Given the description of an element on the screen output the (x, y) to click on. 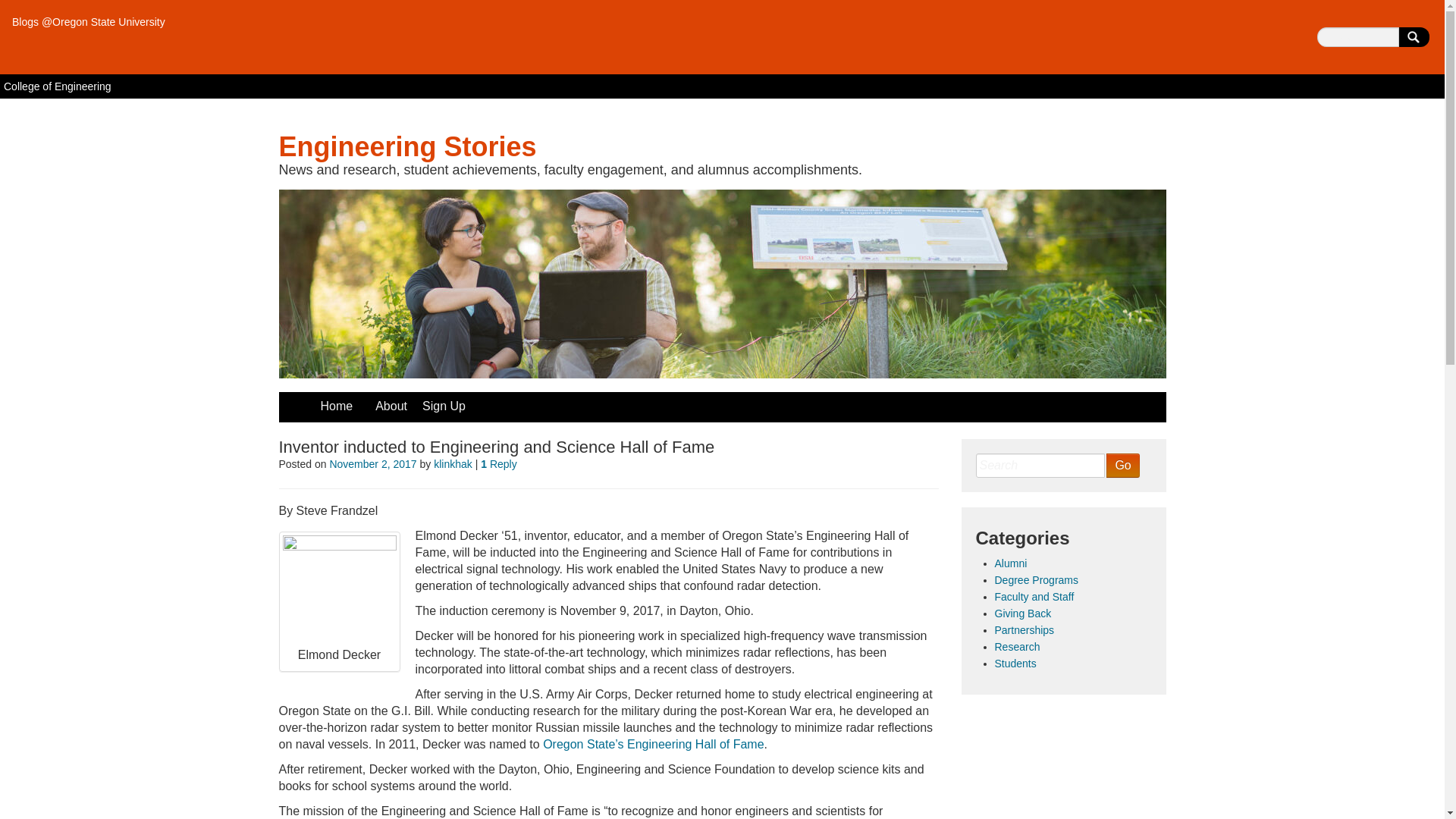
1 Reply (498, 463)
Research (1017, 646)
5:23 pm (372, 463)
Giving Back (1022, 613)
Engineering Stories (408, 146)
November 2, 2017 (372, 463)
College of Engineering (58, 86)
Skip to primary content (341, 400)
Home (336, 406)
View all posts by klinkhak (452, 463)
